Given the description of an element on the screen output the (x, y) to click on. 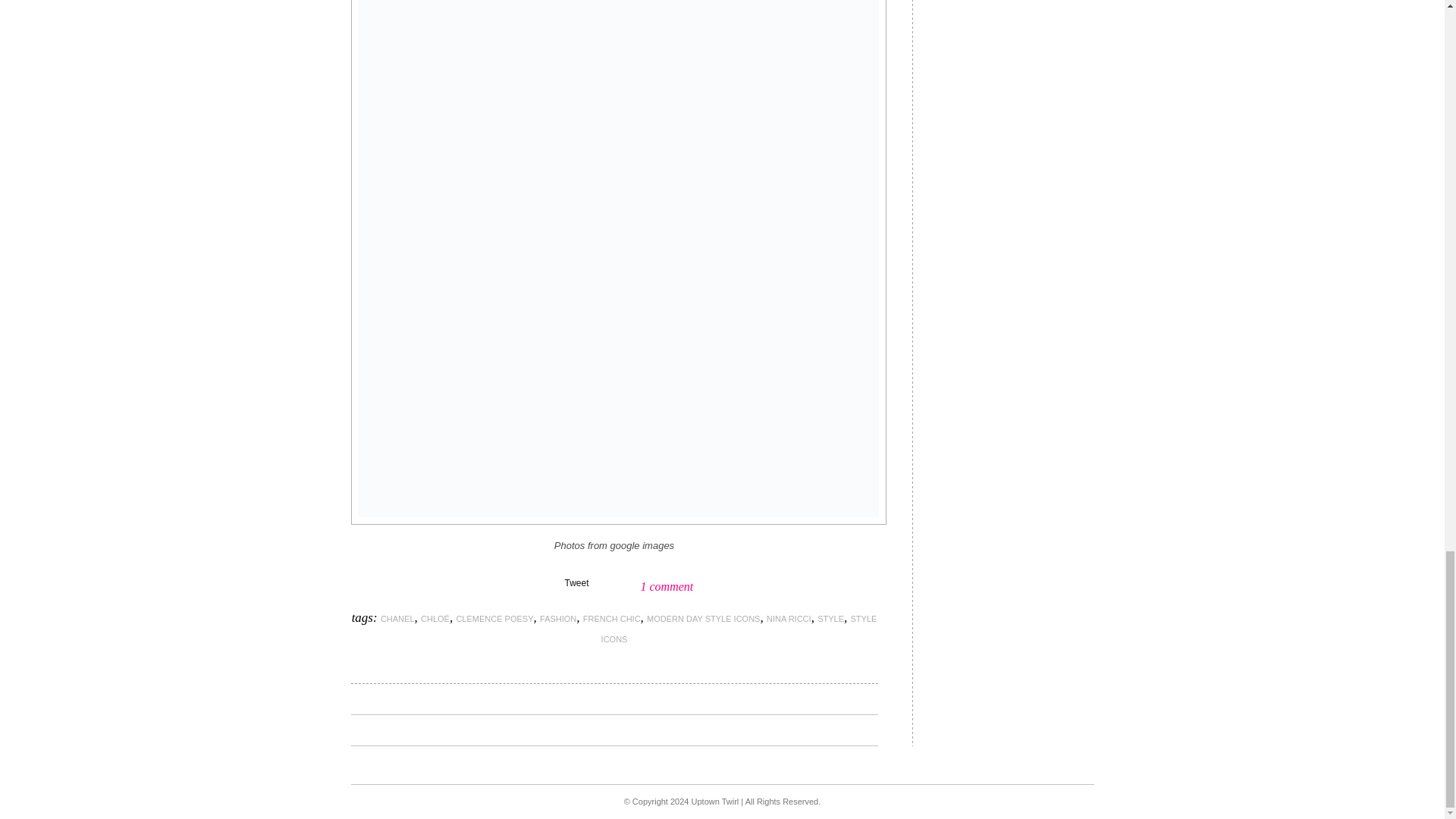
STYLE (830, 618)
1 comment (666, 585)
CHANEL (397, 618)
CLEMENCE POESY (493, 618)
Tweet (576, 583)
MODERN DAY STYLE ICONS (703, 618)
STYLE ICONS (739, 628)
FASHION (558, 618)
FRENCH CHIC (611, 618)
NINA RICCI (788, 618)
